Given the description of an element on the screen output the (x, y) to click on. 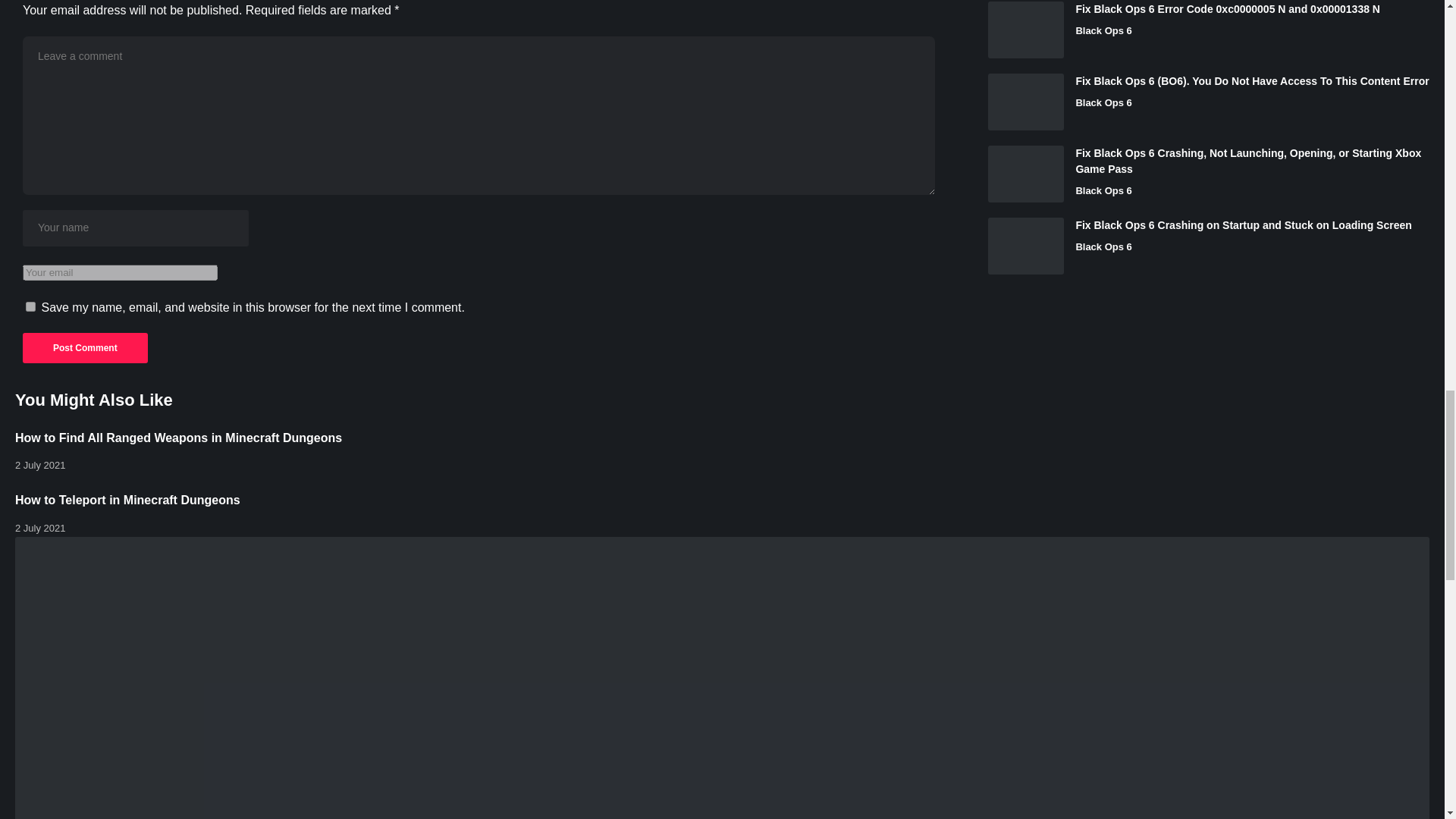
Post Comment (85, 347)
yes (30, 307)
